Given the description of an element on the screen output the (x, y) to click on. 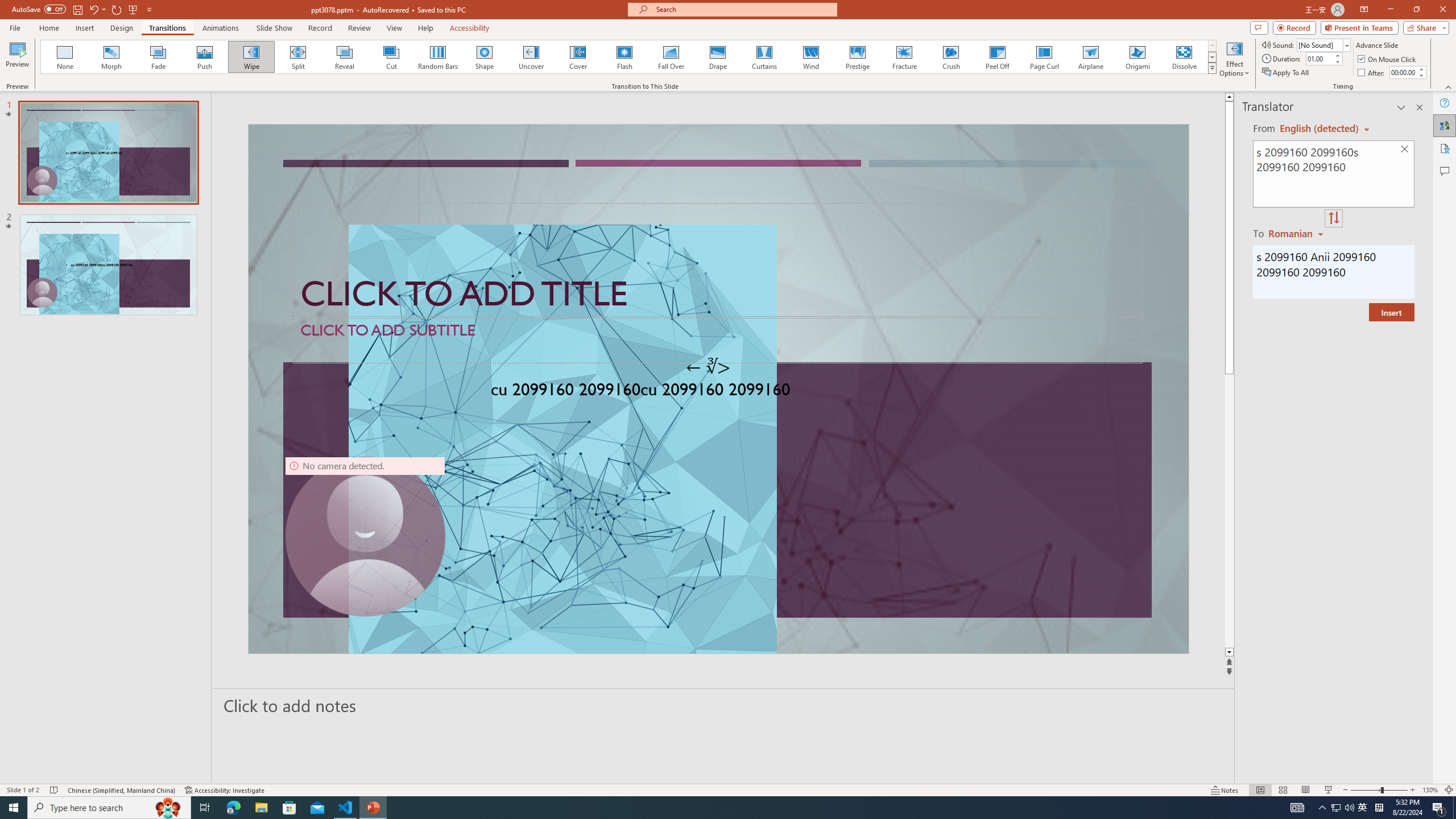
Czech (detected) (1319, 128)
Camera 9, No camera detected. (364, 536)
None (65, 56)
Row up (1212, 45)
Subtitle TextBox (717, 339)
Origami (1136, 56)
Reveal (344, 56)
Push (205, 56)
Dissolve (1183, 56)
Task Pane Options (1400, 107)
Fall Over (670, 56)
